Given the description of an element on the screen output the (x, y) to click on. 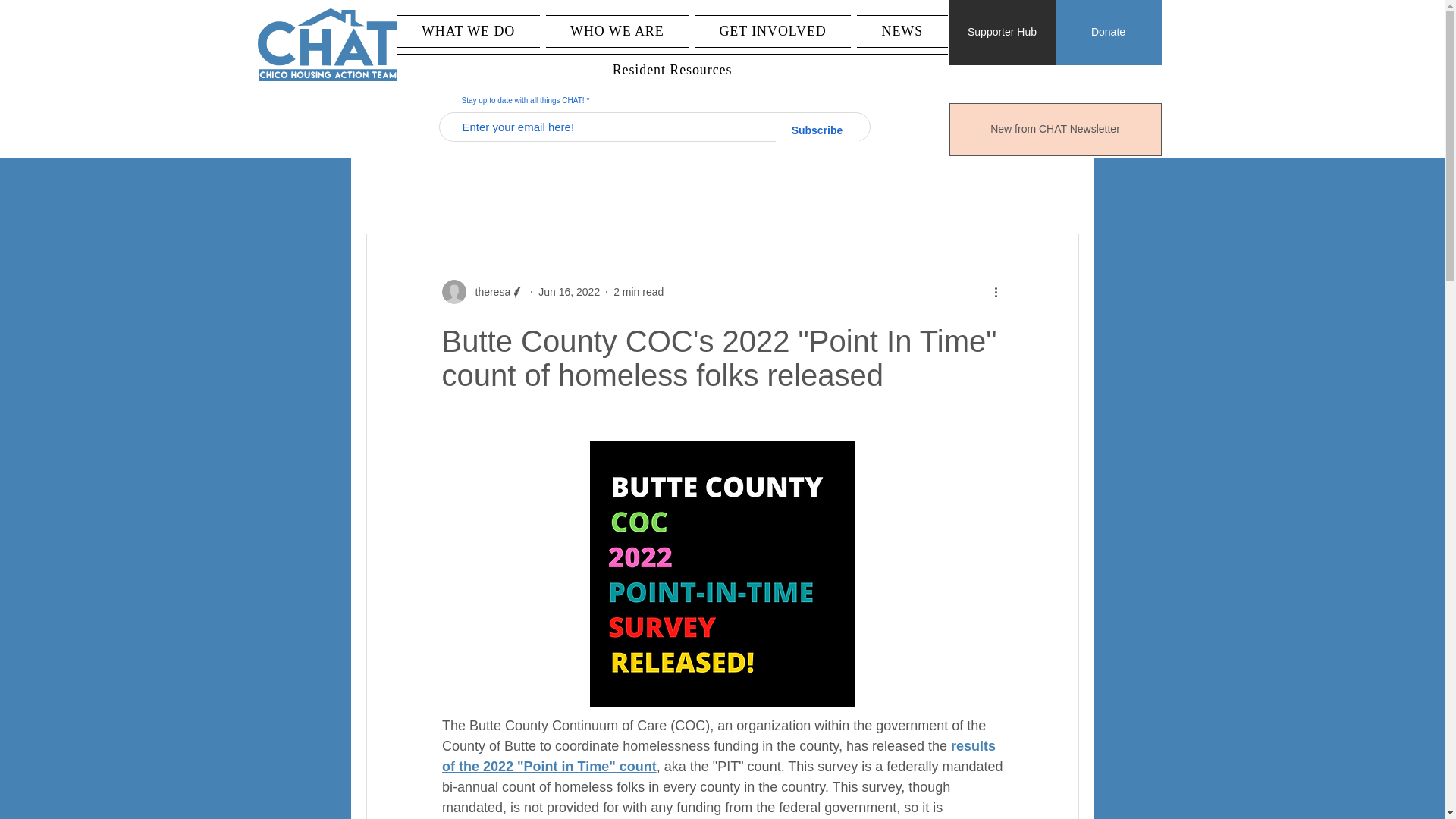
theresa (482, 291)
New from CHAT Newsletter (1055, 129)
Supporter Hub (1002, 32)
theresa (488, 291)
2 min read (637, 291)
Subscribe (817, 130)
Donate (1108, 32)
Jun 16, 2022 (568, 291)
results of the 2022 "Point in Time" count (719, 755)
